Given the description of an element on the screen output the (x, y) to click on. 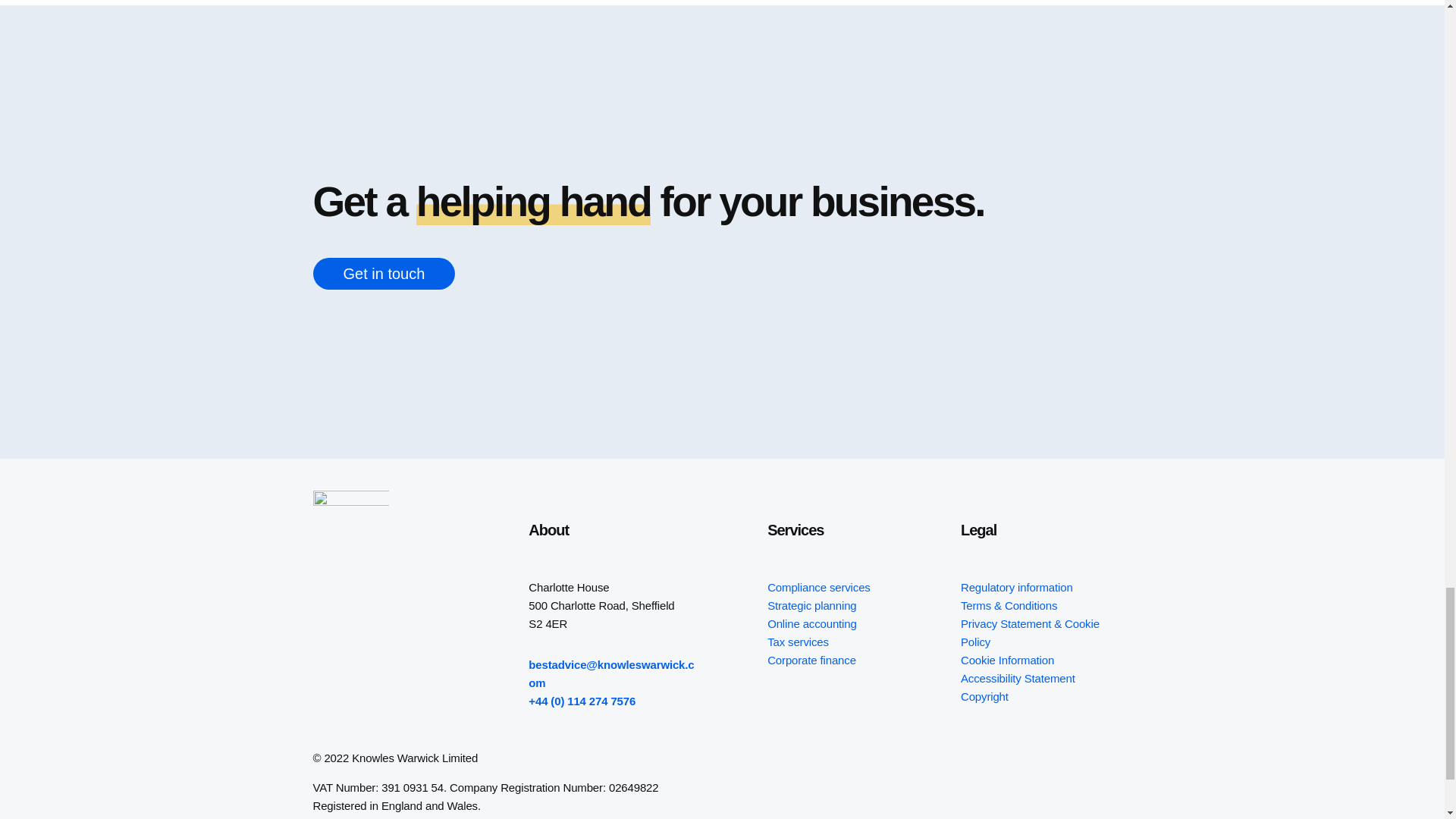
Email Knowles Warwick (611, 673)
